Given the description of an element on the screen output the (x, y) to click on. 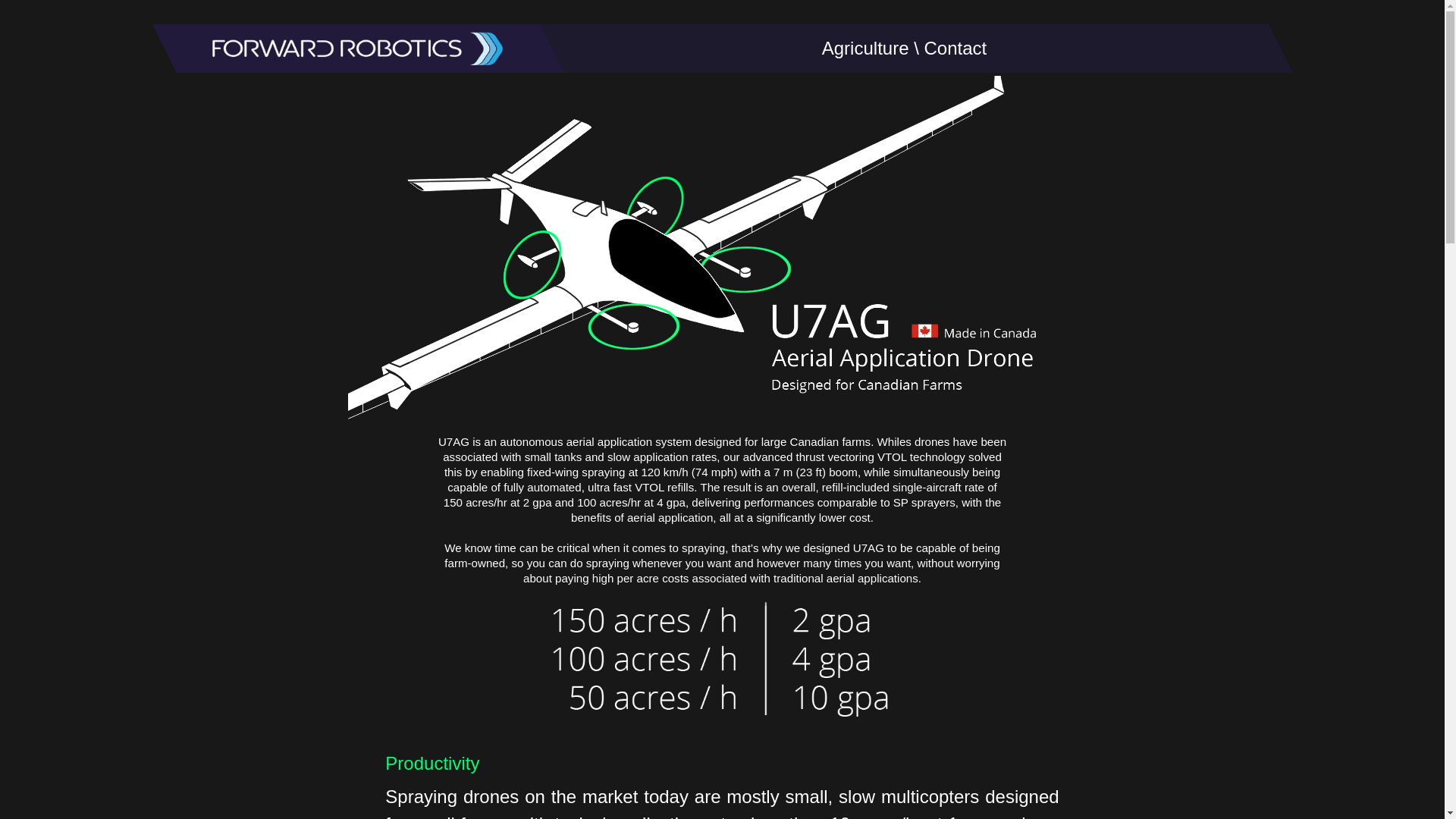
Contact (955, 47)
Agriculture (865, 47)
